Given the description of an element on the screen output the (x, y) to click on. 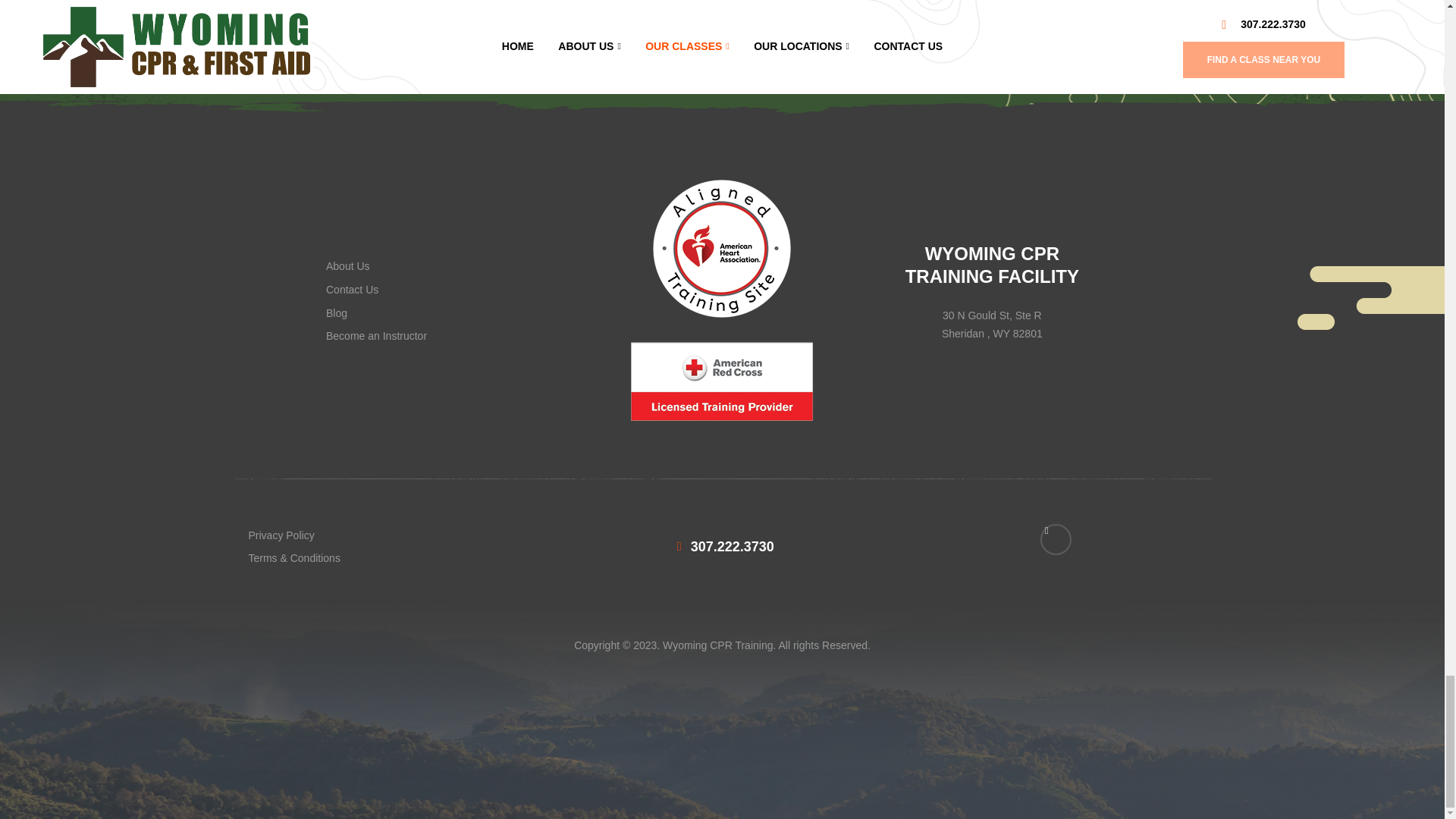
Subscribe (1003, 23)
